Given the description of an element on the screen output the (x, y) to click on. 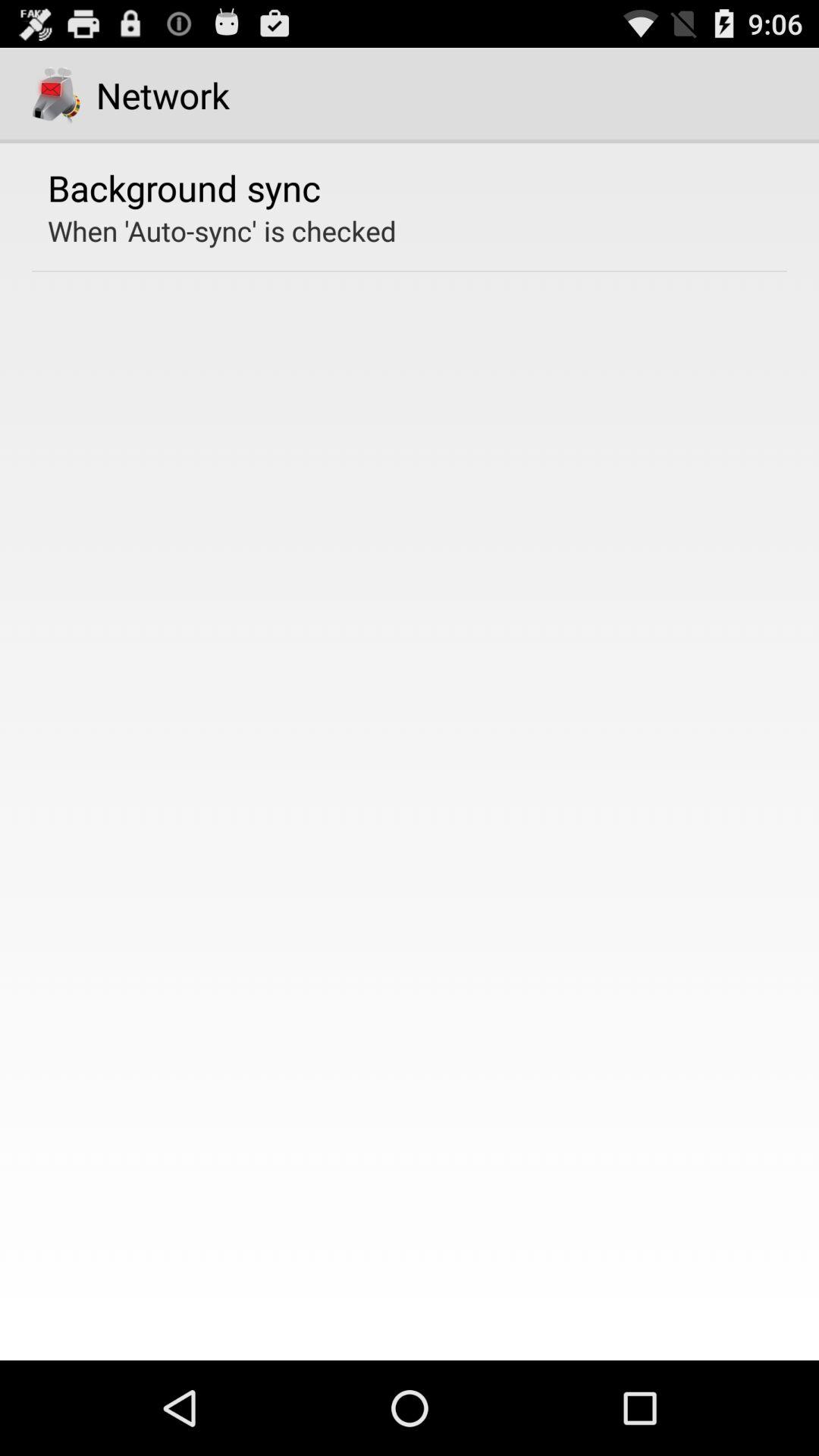
swipe until the when auto sync app (221, 230)
